Given the description of an element on the screen output the (x, y) to click on. 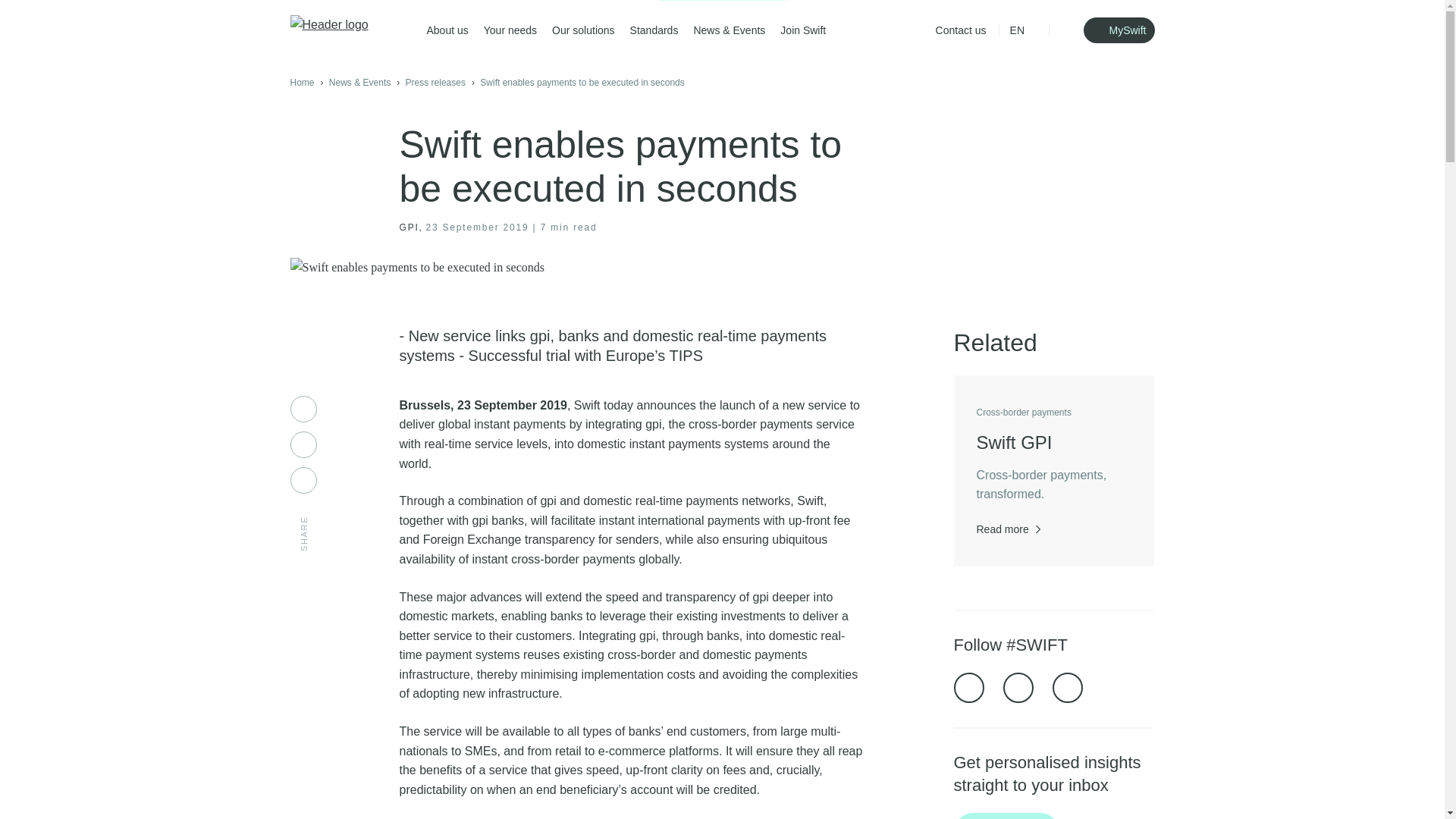
Header logo (334, 30)
